Given the description of an element on the screen output the (x, y) to click on. 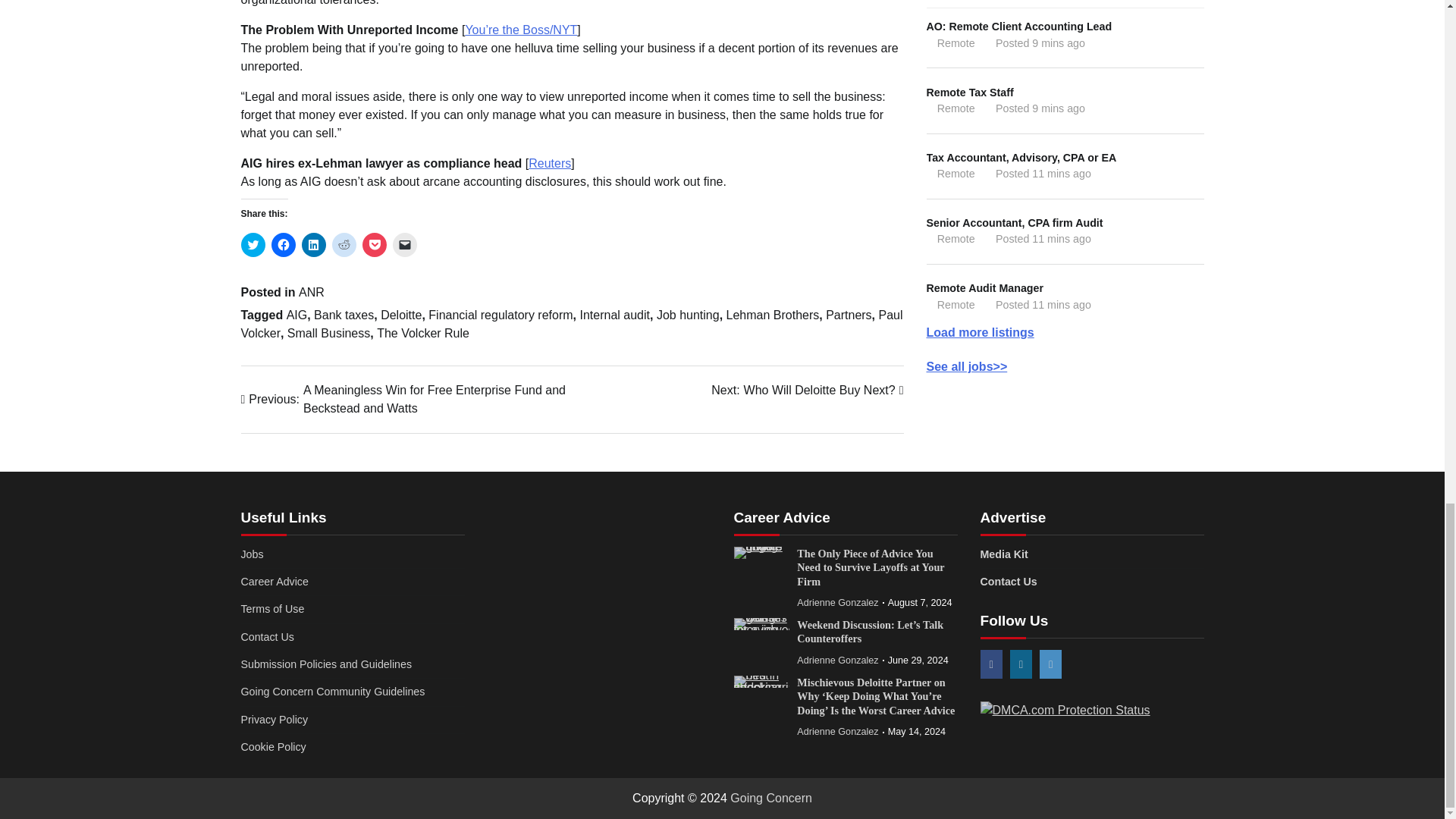
Click to share on Facebook (282, 244)
Click to share on Pocket (374, 244)
Click to share on LinkedIn (313, 244)
Click to share on Twitter (252, 244)
Click to email a link to a friend (404, 244)
Reuters (549, 163)
Click to share on Reddit (343, 244)
